Given the description of an element on the screen output the (x, y) to click on. 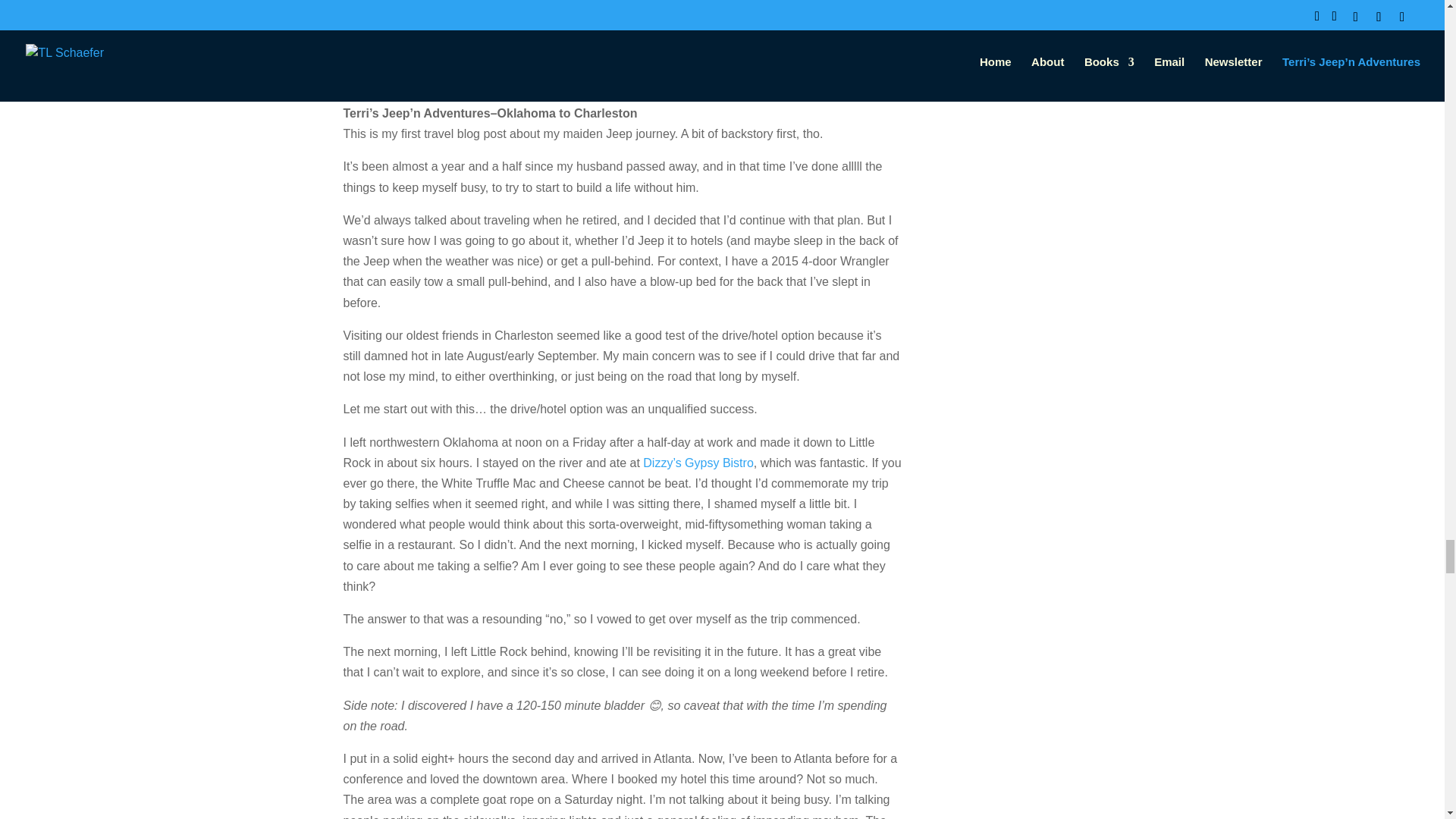
Posts by TL Schaefer (392, 88)
